Given the description of an element on the screen output the (x, y) to click on. 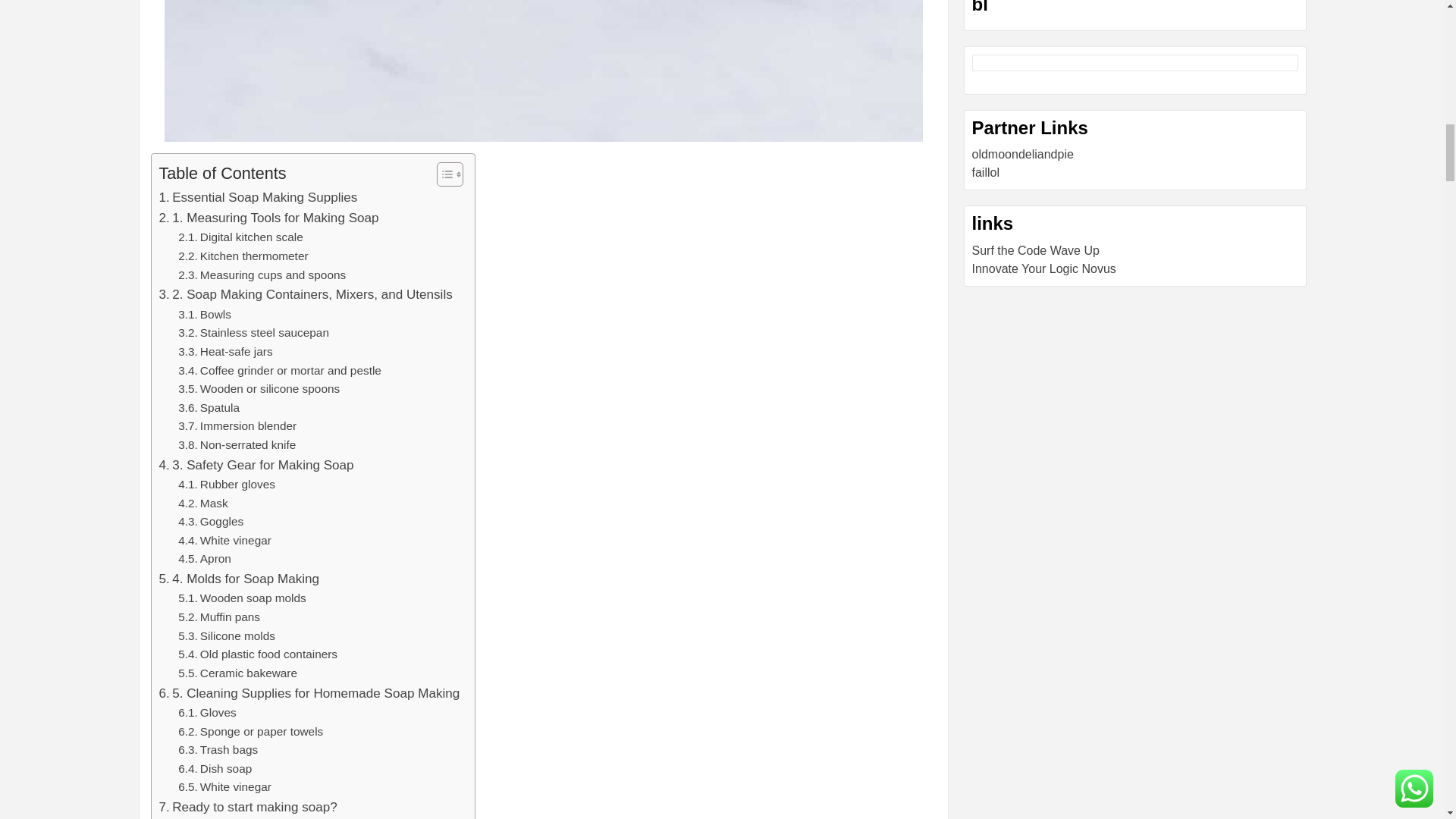
Kitchen thermometer (242, 256)
Immersion blender (237, 425)
Coffee grinder or mortar and pestle (279, 370)
Rubber gloves (226, 484)
Essential Soap Making Supplies (258, 197)
Mask (202, 503)
Immersion blender (237, 425)
Kitchen thermometer (242, 256)
Measuring cups and spoons (261, 275)
Essential Soap Making Supplies (258, 197)
